Given the description of an element on the screen output the (x, y) to click on. 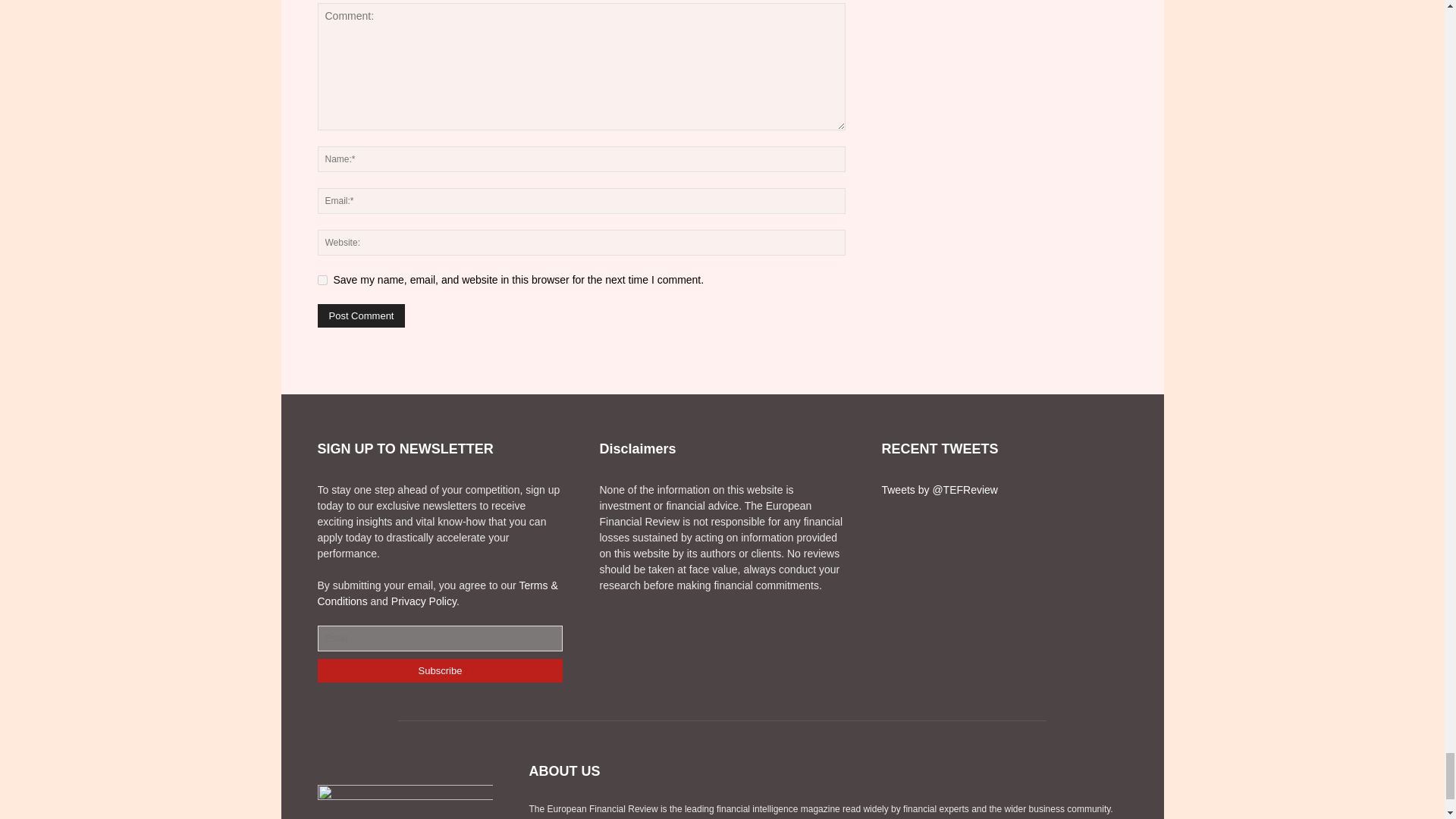
Post Comment (360, 315)
yes (321, 280)
Subscribe (439, 670)
